Given the description of an element on the screen output the (x, y) to click on. 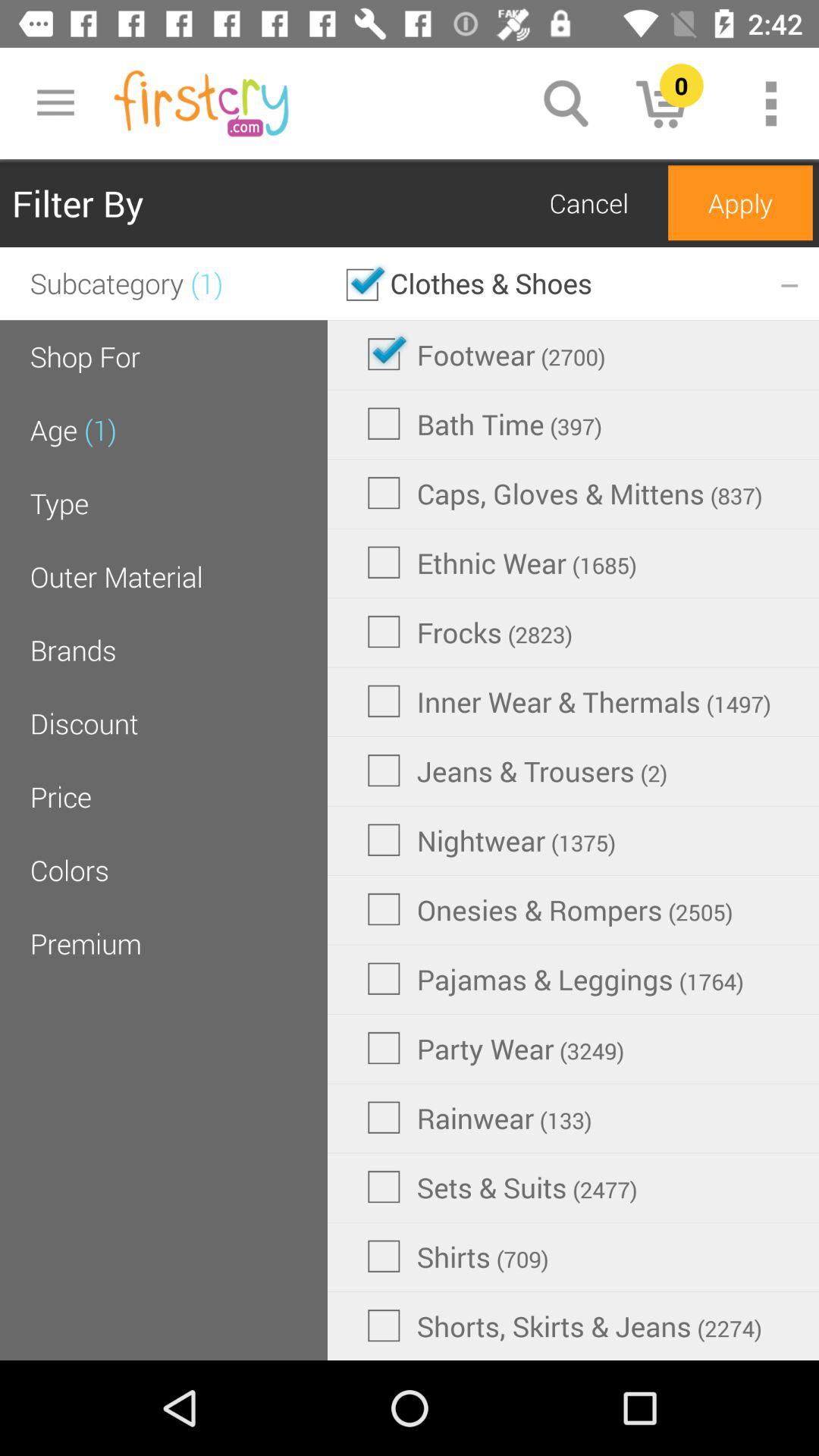
choose the item above shorts skirts jeans item (457, 1256)
